Given the description of an element on the screen output the (x, y) to click on. 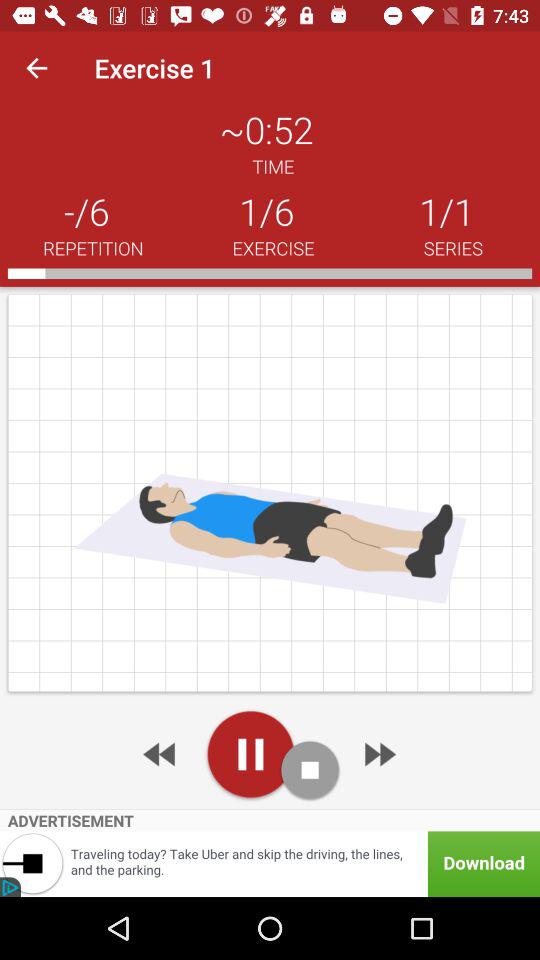
go to advertisement (378, 754)
